Given the description of an element on the screen output the (x, y) to click on. 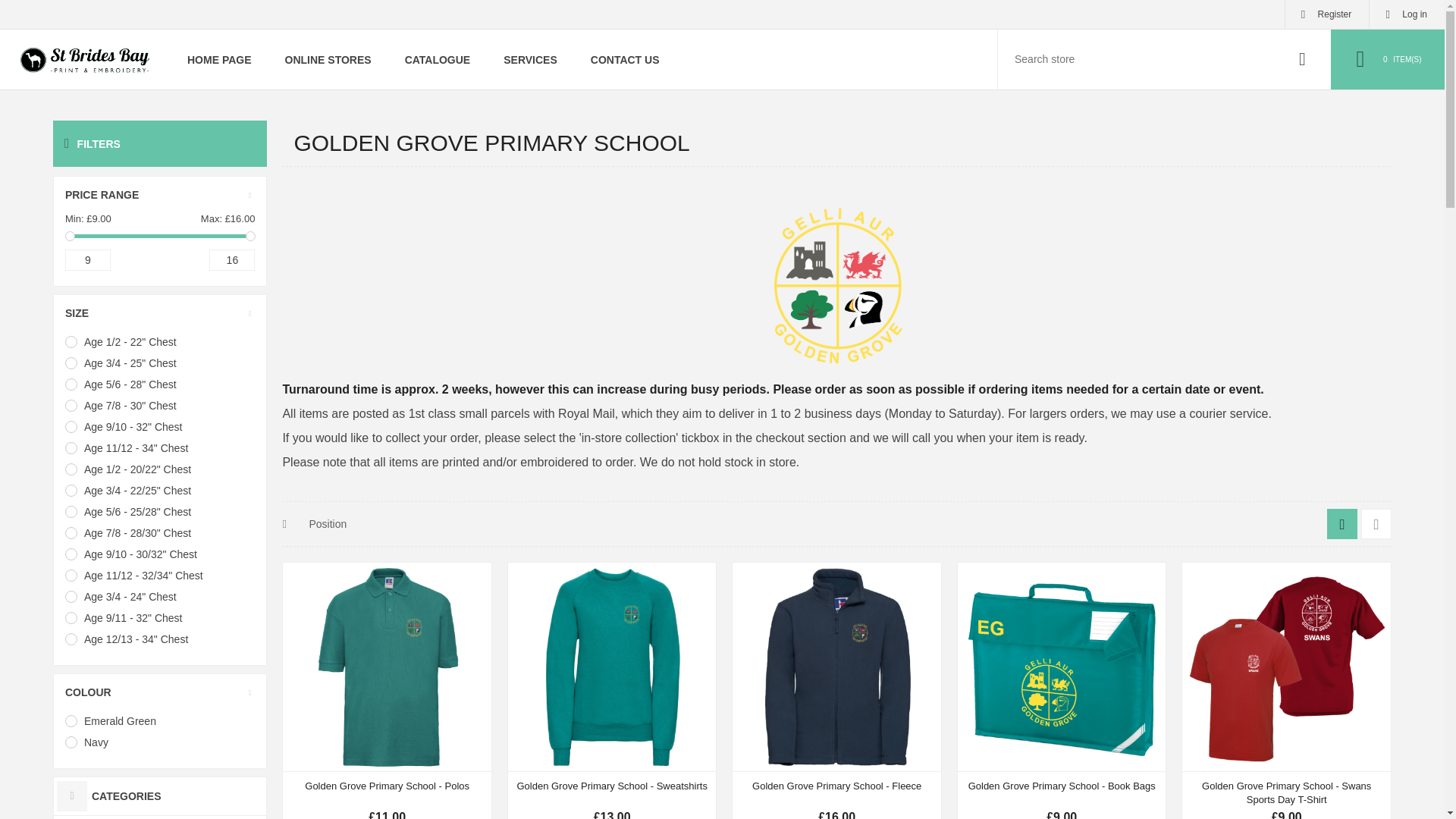
Services (529, 59)
SERVICES (529, 59)
Catalogue (437, 59)
Golden Grove Primary School - Polos (386, 786)
ONLINE STORES (327, 59)
Contact Us (625, 59)
Register (1327, 14)
Home Page (218, 59)
Grid (1341, 523)
Online Stores (327, 59)
Golden Grove Primary School - Sweatshirts (611, 786)
CATALOGUE (437, 59)
Search (1302, 59)
List (1376, 523)
CONTACT US (625, 59)
